Given the description of an element on the screen output the (x, y) to click on. 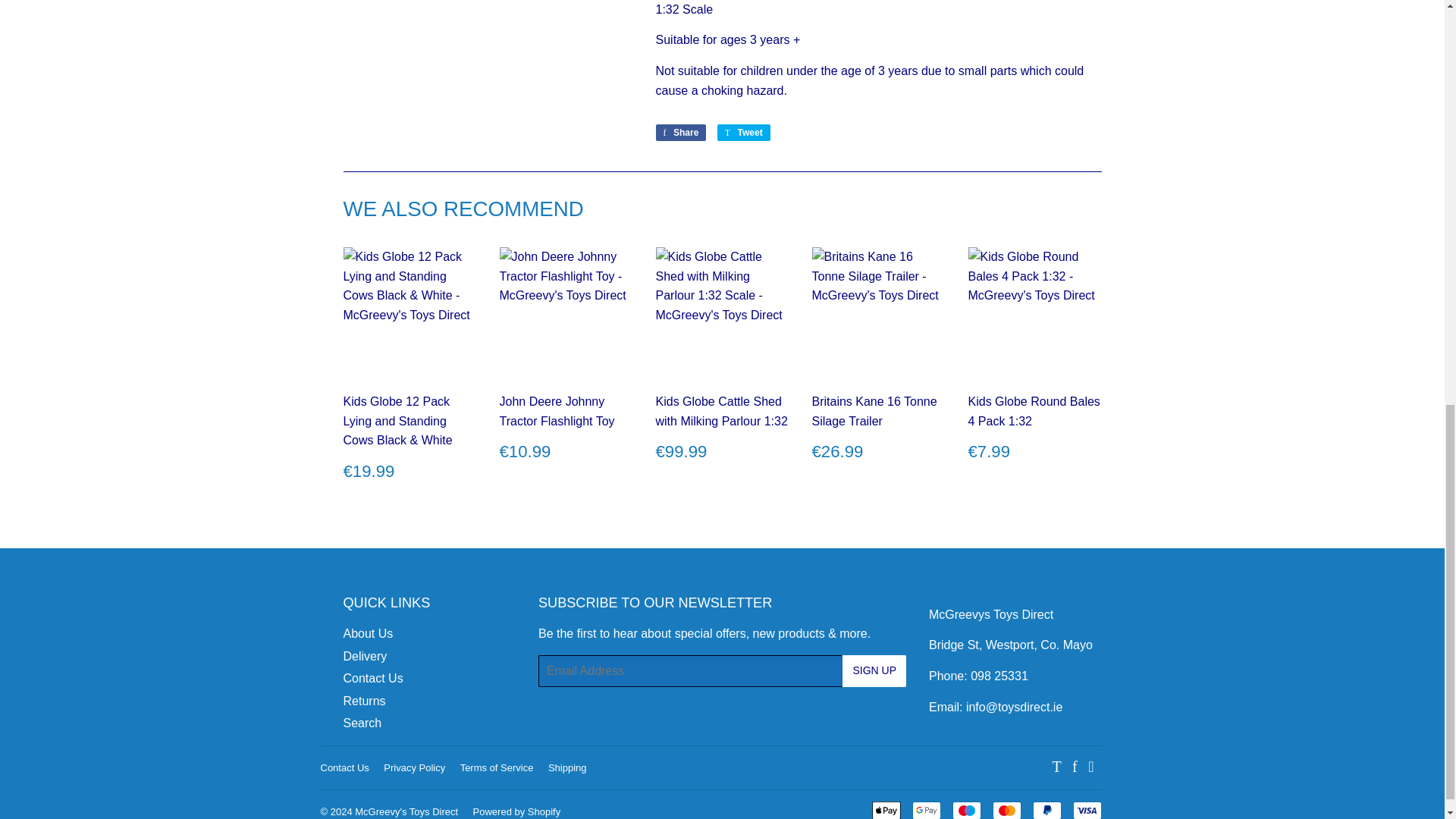
Visa (1085, 810)
Google Pay (925, 810)
Maestro (966, 810)
Mastercard (1005, 810)
Apple Pay (886, 810)
PayPal (1046, 810)
